Given the description of an element on the screen output the (x, y) to click on. 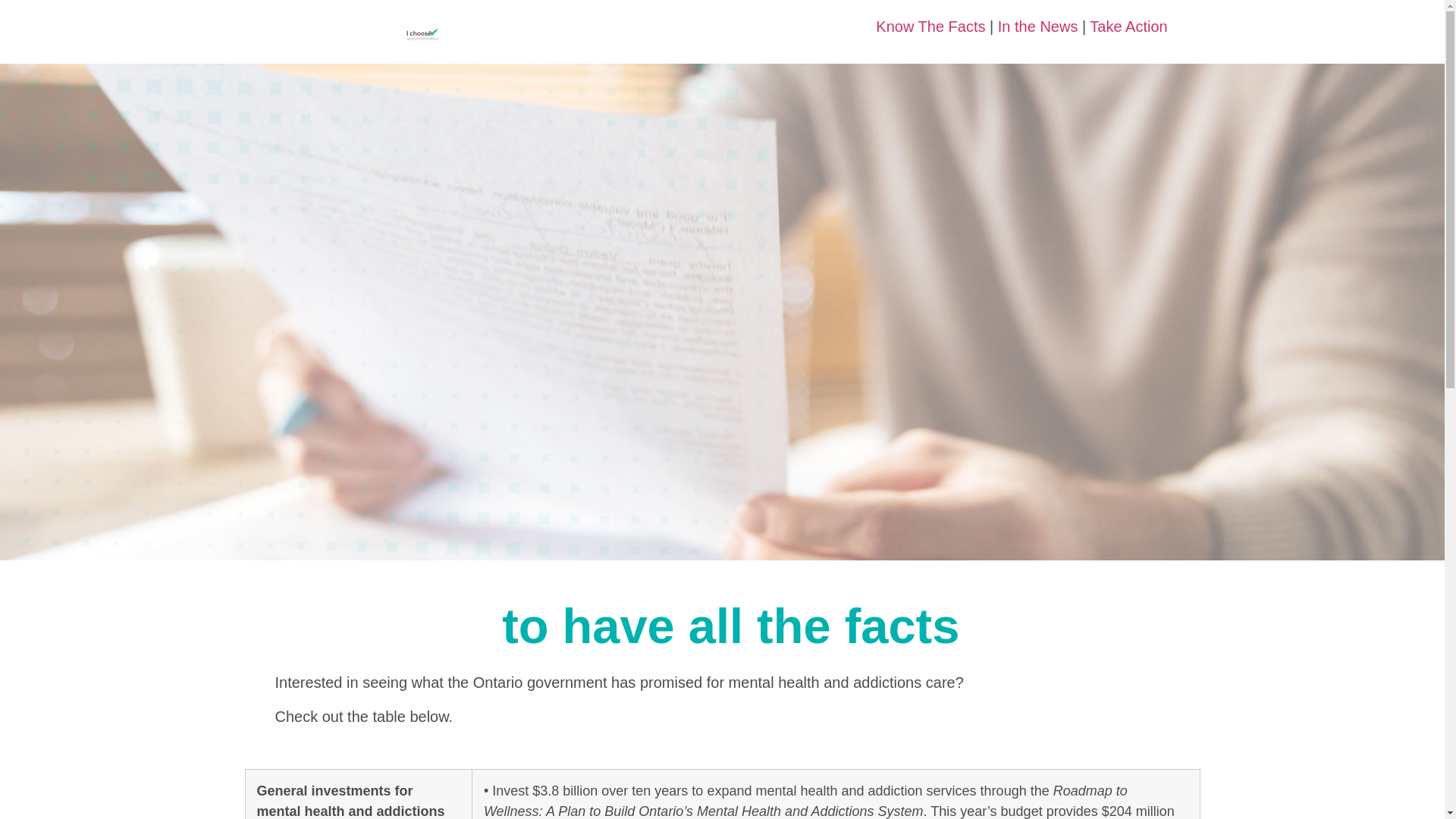
Take Action (1128, 26)
In the News (1037, 26)
Know The Facts (930, 26)
